Given the description of an element on the screen output the (x, y) to click on. 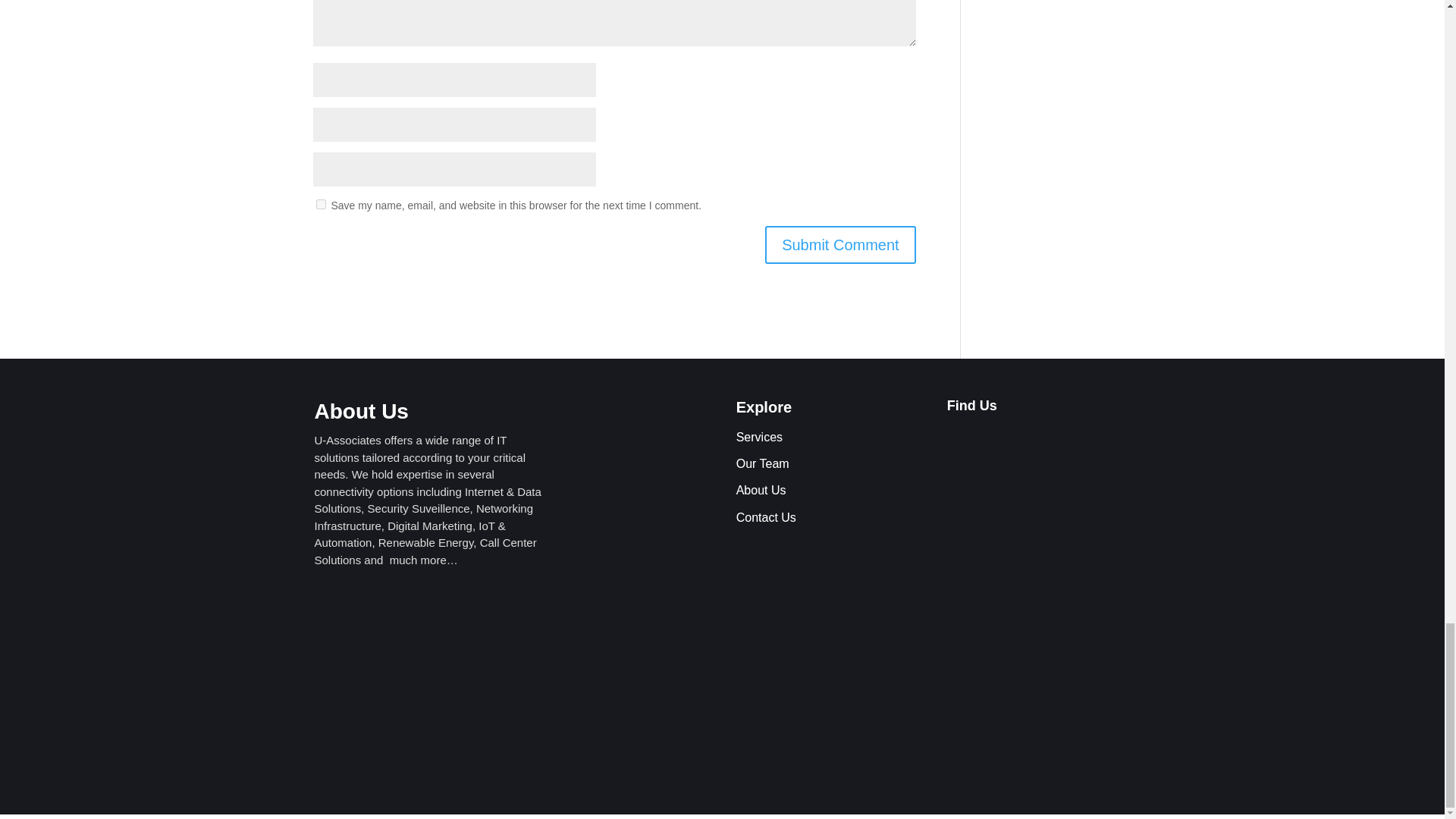
Submit Comment (840, 244)
Submit Comment (840, 244)
yes (319, 204)
Services (759, 436)
Our Team (762, 463)
